Given the description of an element on the screen output the (x, y) to click on. 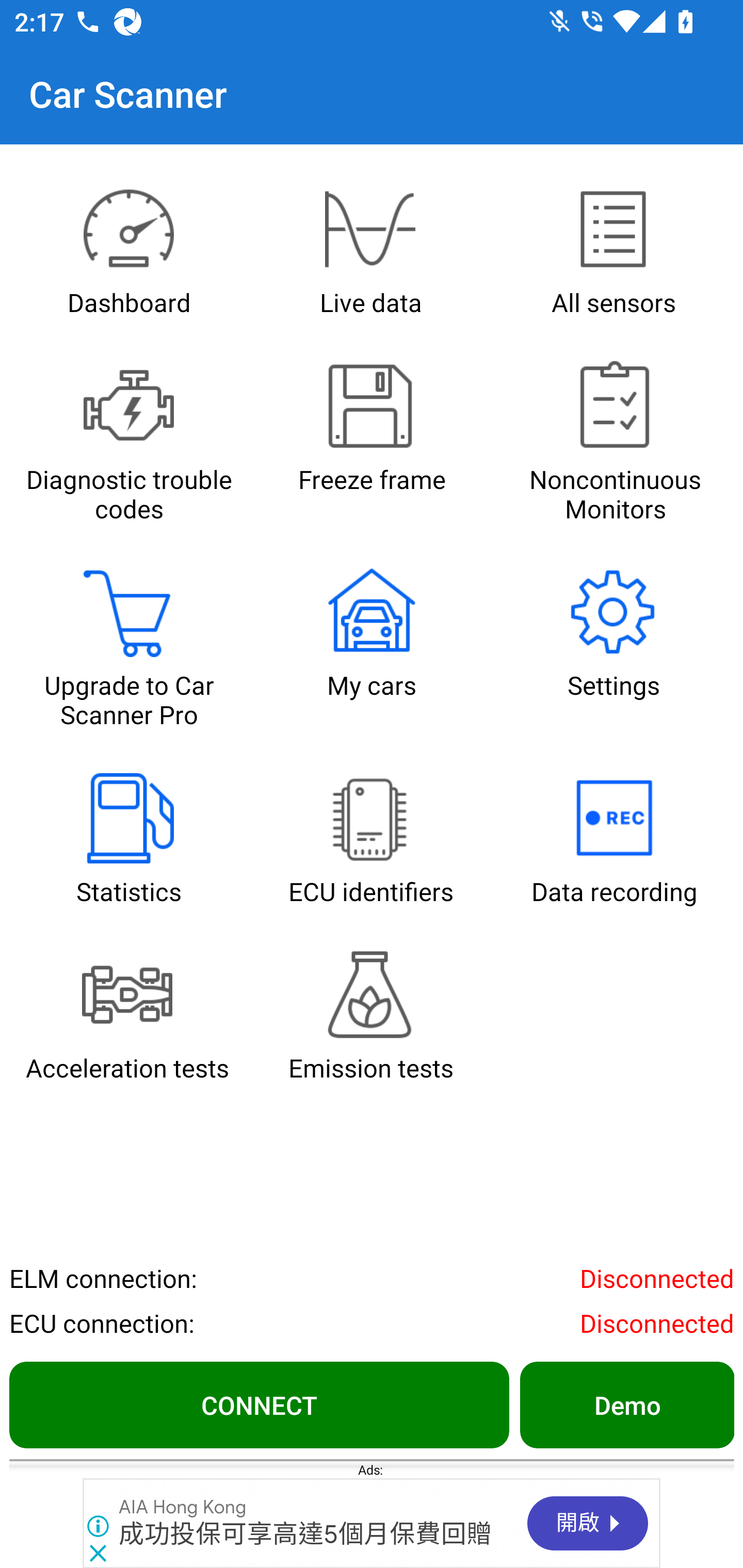
CONNECT (258, 1404)
Demo (627, 1404)
AIA Hong Kong (182, 1507)
開啟 (587, 1522)
成功投保可享高達5個月保費回贈 (306, 1533)
